Given the description of an element on the screen output the (x, y) to click on. 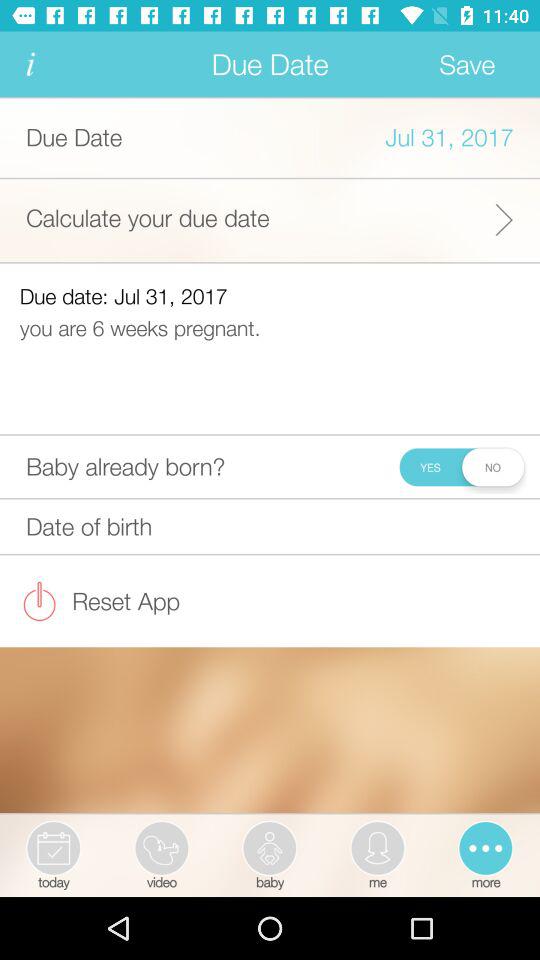
toggle option baby already born (460, 466)
